Given the description of an element on the screen output the (x, y) to click on. 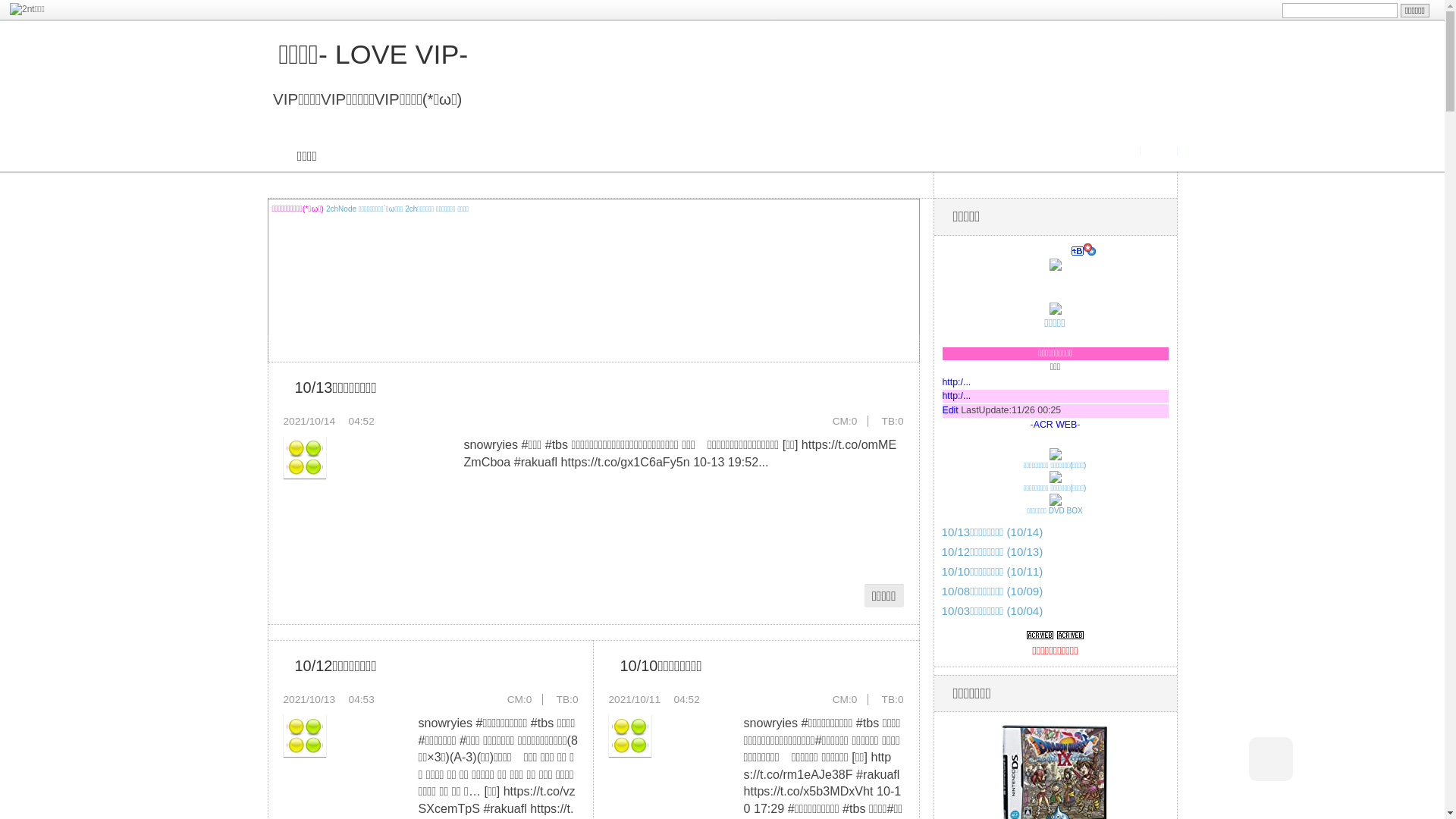
TB:0 Element type: text (892, 420)
2chNode Element type: text (341, 208)
http:/... Element type: text (955, 395)
CM:0 Element type: text (844, 420)
Edit Element type: text (949, 409)
TB:0 Element type: text (892, 699)
TB:0 Element type: text (567, 699)
http:/... Element type: text (955, 381)
CM:0 Element type: text (844, 699)
ACR WEB Element type: text (1055, 424)
CM:0 Element type: text (519, 699)
